Given the description of an element on the screen output the (x, y) to click on. 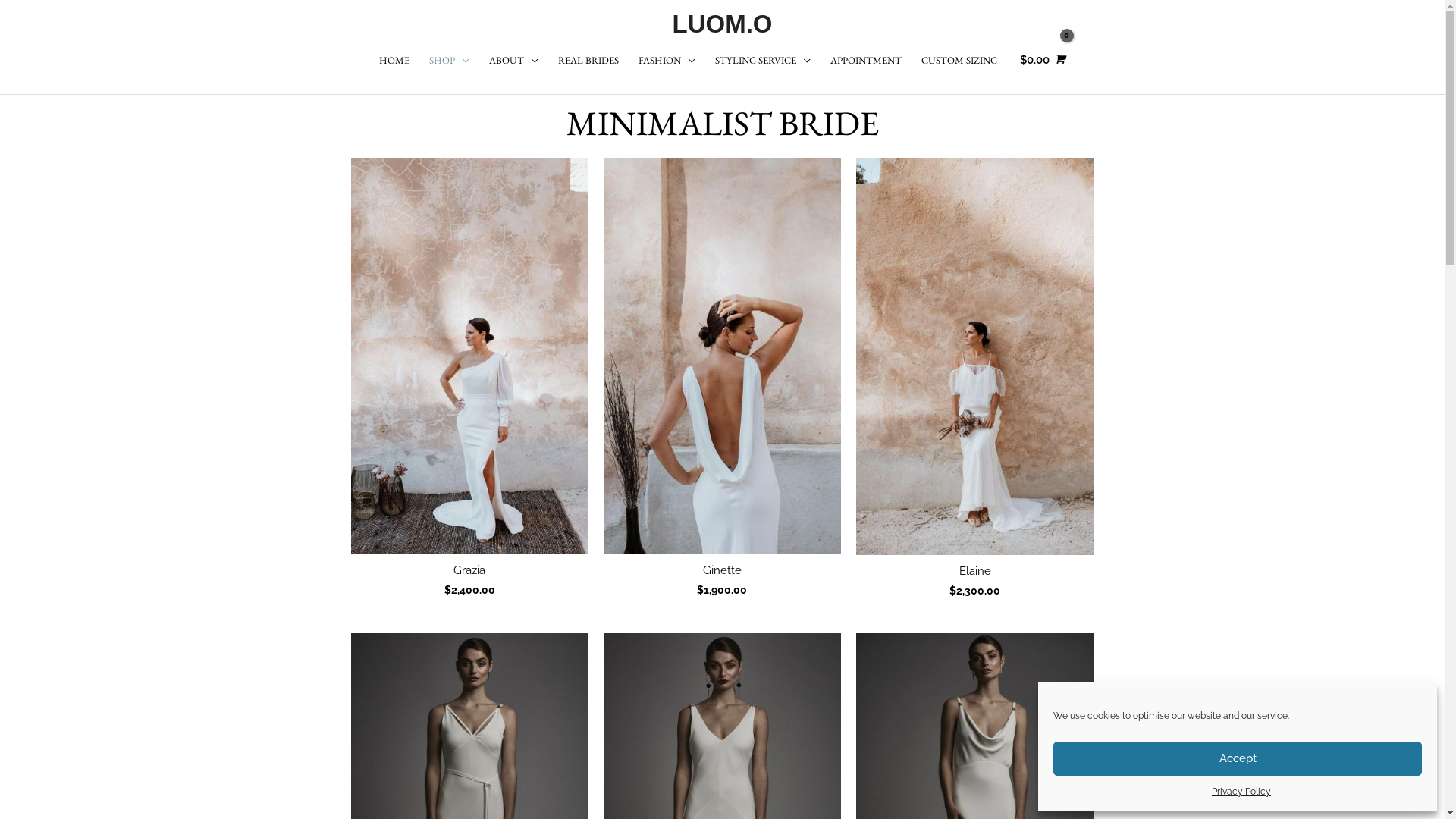
APPOINTMENT Element type: text (865, 60)
Ginette Element type: text (722, 570)
LUOM.O Element type: text (721, 23)
Accept Element type: text (1237, 758)
Grazia Element type: text (469, 570)
CUSTOM SIZING Element type: text (959, 60)
$0.00 Element type: text (1040, 59)
FASHION Element type: text (665, 60)
Elaine Element type: text (974, 571)
SHOP Element type: text (448, 60)
REAL BRIDES Element type: text (587, 60)
HOME Element type: text (393, 60)
STYLING SERVICE Element type: text (762, 60)
ABOUT Element type: text (513, 60)
Privacy Policy Element type: text (1240, 791)
